Given the description of an element on the screen output the (x, y) to click on. 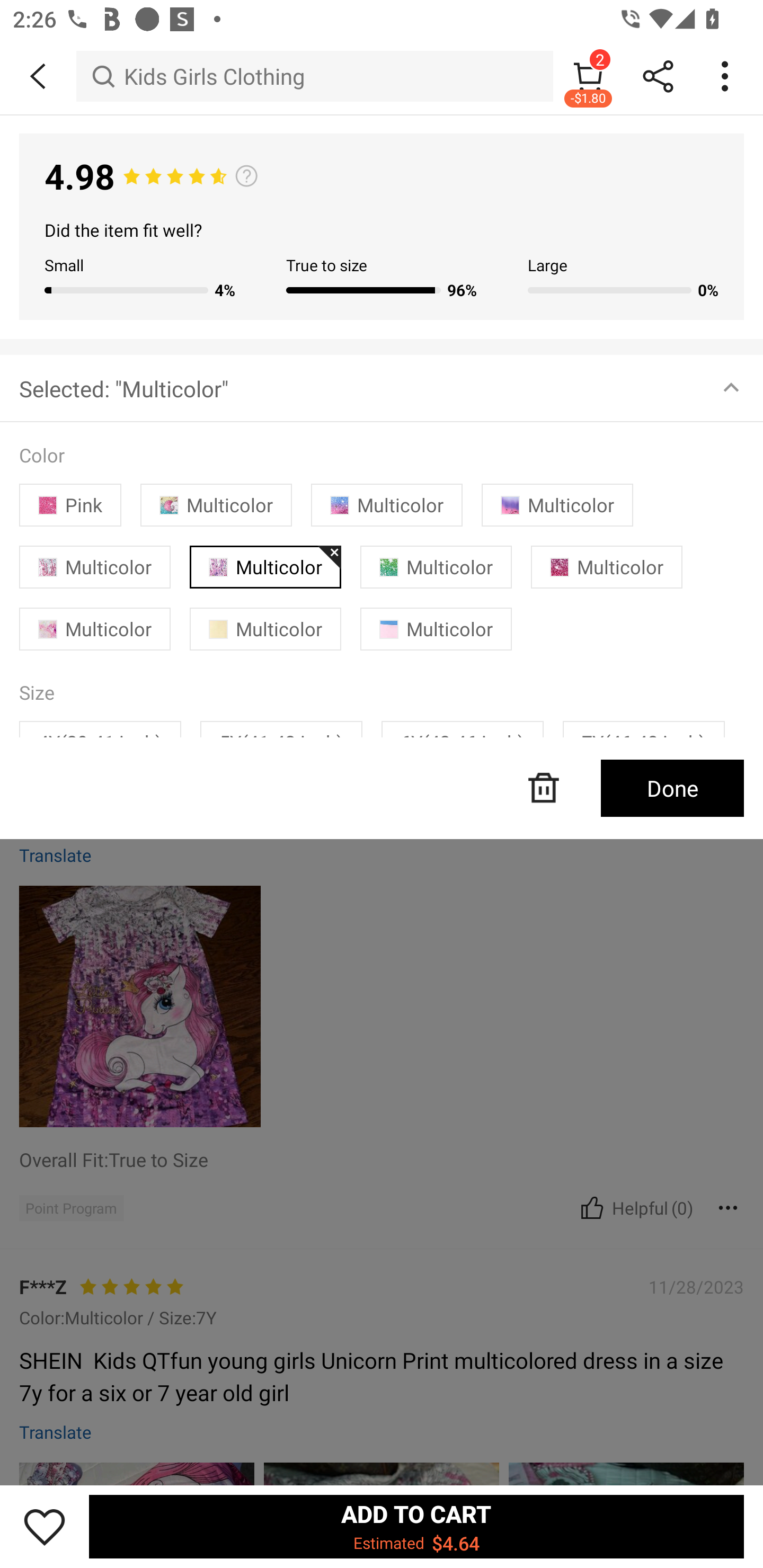
Pink (70, 504)
Multicolor (216, 504)
Multicolor (386, 504)
Multicolor (557, 504)
Multicolor (94, 566)
Multicolor (265, 566)
Multicolor (435, 566)
Multicolor (606, 566)
Multicolor (94, 629)
Multicolor (265, 629)
Multicolor (435, 629)
Done (672, 787)
Clear (543, 788)
